Given the description of an element on the screen output the (x, y) to click on. 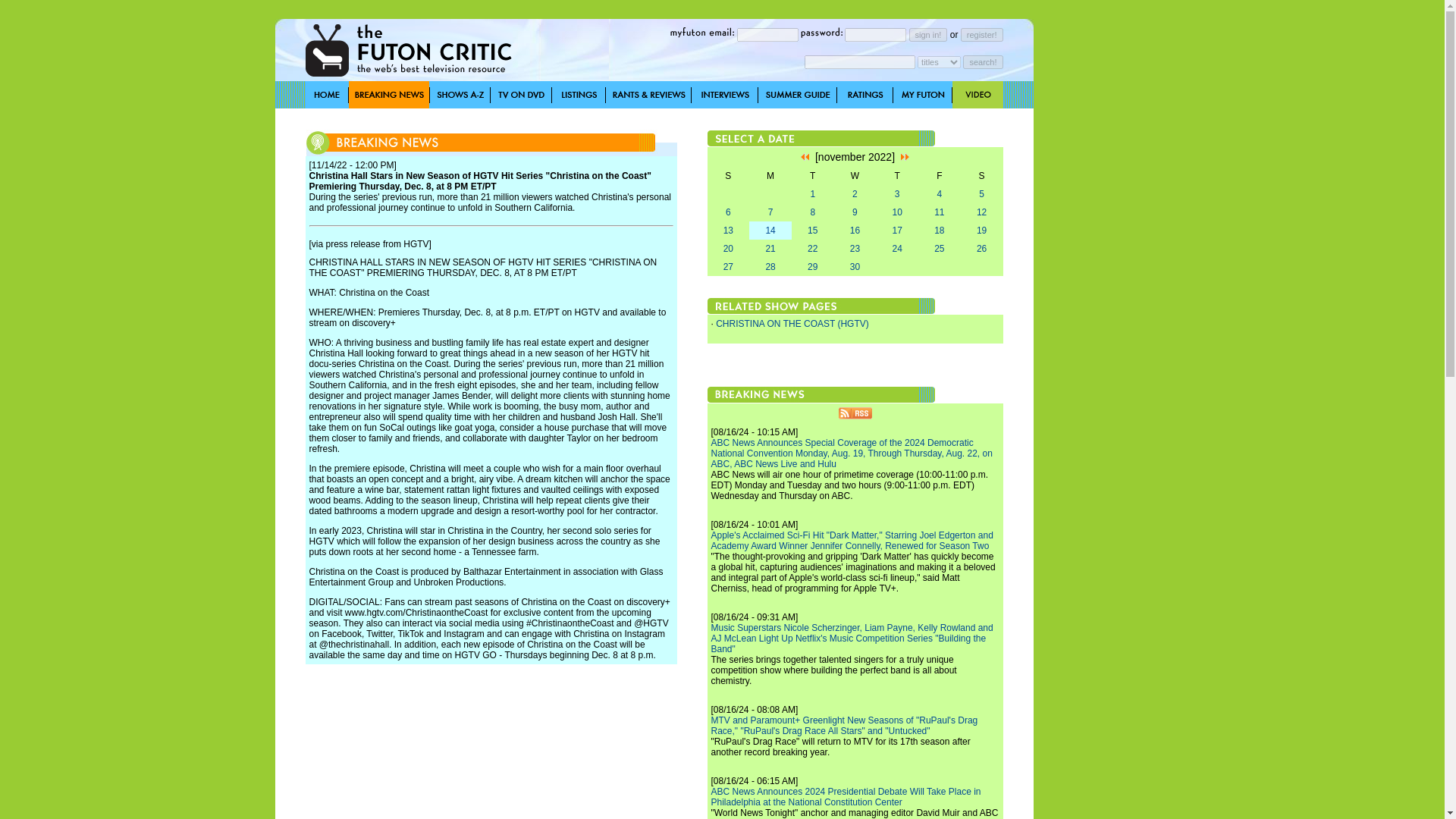
18 (938, 230)
sign in! (927, 33)
15 (812, 230)
search! (982, 60)
search! (982, 60)
17 (896, 230)
register! (981, 33)
20 (728, 248)
19 (981, 230)
13 (728, 230)
